Given the description of an element on the screen output the (x, y) to click on. 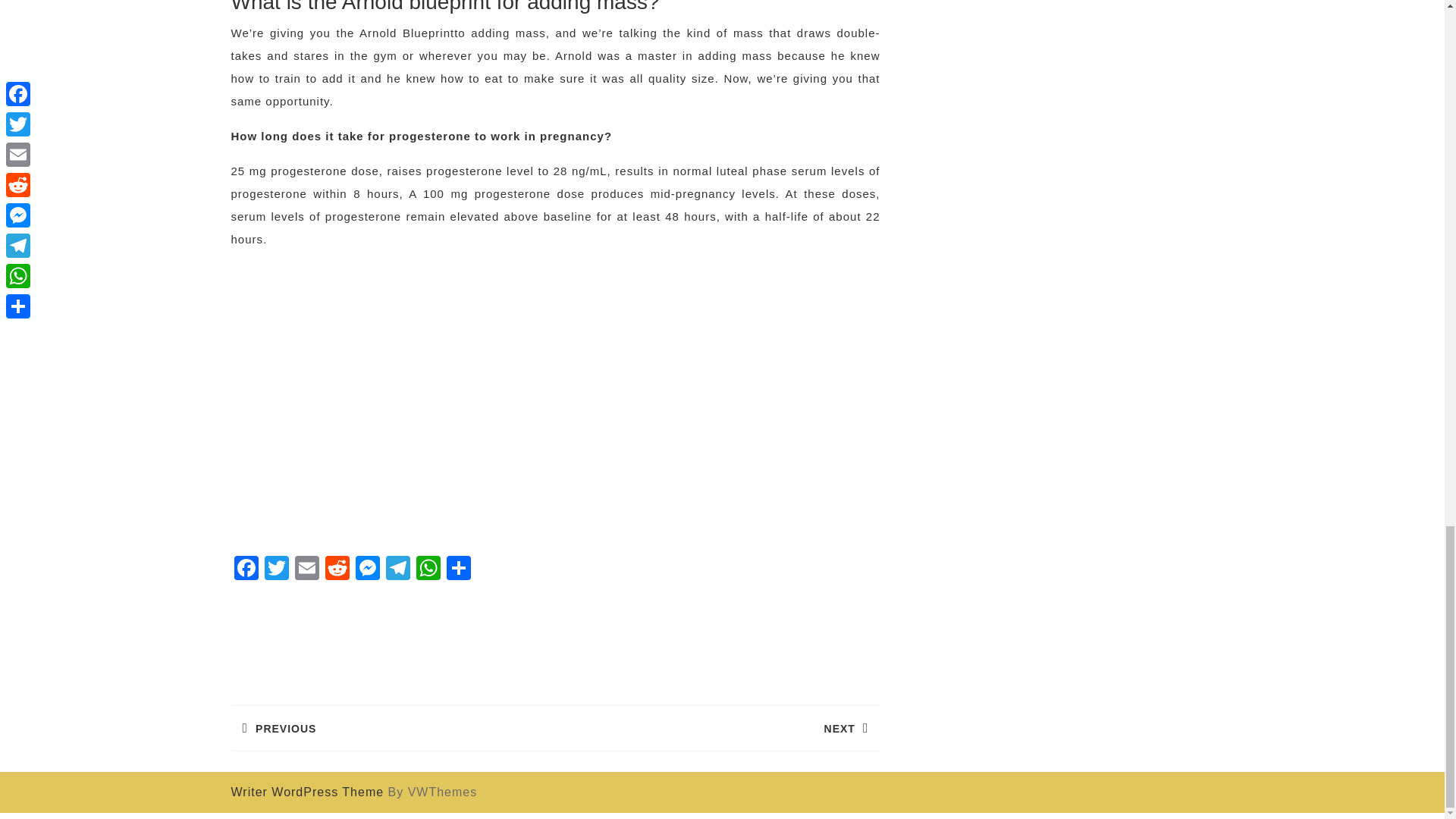
Twitter (275, 569)
Facebook (245, 569)
WhatsApp (427, 569)
Telegram (396, 569)
Reddit (336, 569)
Reddit (336, 569)
Twitter (275, 569)
Email (392, 728)
Telegram (306, 569)
Writer WordPress Theme (396, 569)
Messenger (307, 791)
Email (366, 569)
Messenger (306, 569)
Facebook (366, 569)
